Given the description of an element on the screen output the (x, y) to click on. 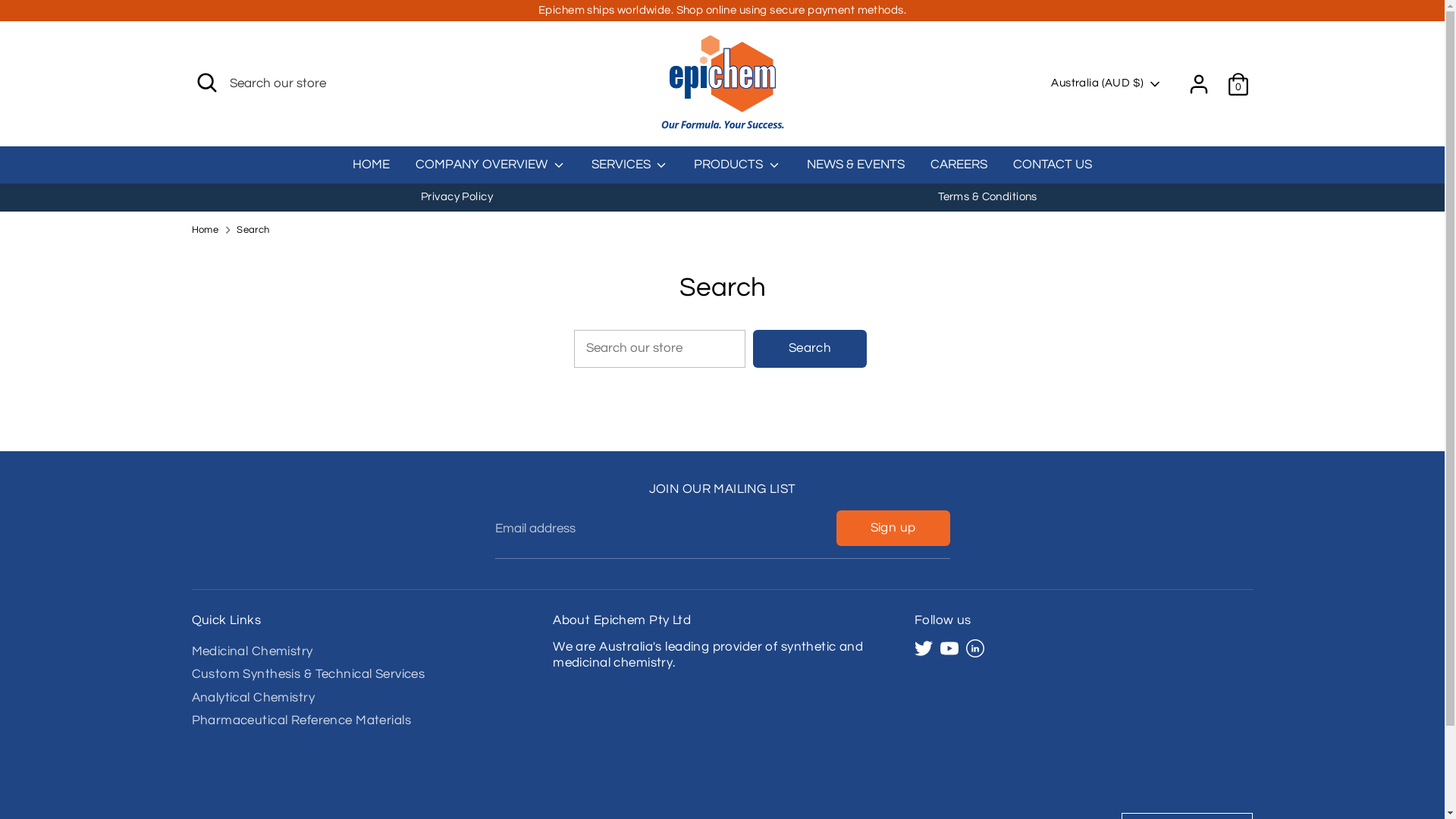
PRODUCTS Element type: text (737, 169)
Home Element type: text (204, 229)
COMPANY OVERVIEW Element type: text (490, 169)
NEWS & EVENTS Element type: text (855, 169)
Terms & Conditions Element type: text (987, 196)
Australia (AUD $) Element type: text (1106, 83)
Pharmaceutical Reference Materials Element type: text (300, 720)
0 Element type: text (1237, 84)
Analytical Chemistry Element type: text (252, 697)
Search Element type: text (252, 229)
Custom Synthesis & Technical Services Element type: text (307, 673)
CONTACT US Element type: text (1052, 169)
Privacy Policy Element type: text (456, 196)
CAREERS Element type: text (958, 169)
Search Element type: text (809, 348)
HOME Element type: text (371, 169)
SERVICES Element type: text (630, 169)
Sign up Element type: text (893, 528)
Medicinal Chemistry Element type: text (251, 651)
